Given the description of an element on the screen output the (x, y) to click on. 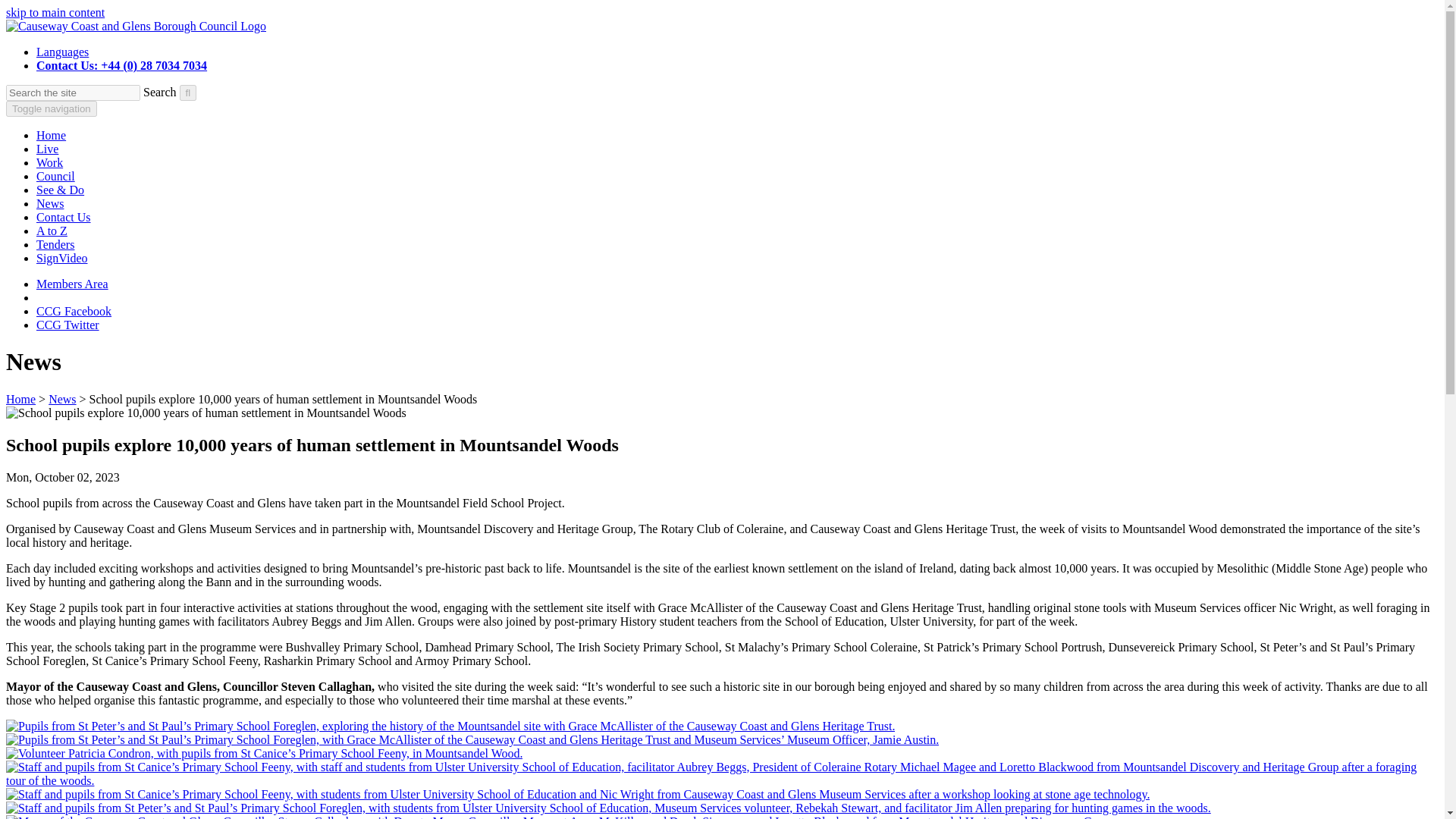
CCG Facebook (74, 310)
Members Area (71, 283)
Toggle navigation (51, 108)
SignVideo (61, 257)
Tenders (55, 244)
Contact Us (63, 216)
A to Z (51, 230)
Languages (62, 51)
Skip to Main Content (54, 11)
Homepage Link (135, 25)
Work (49, 162)
News (50, 203)
News (61, 399)
Council (55, 175)
Home (19, 399)
